Given the description of an element on the screen output the (x, y) to click on. 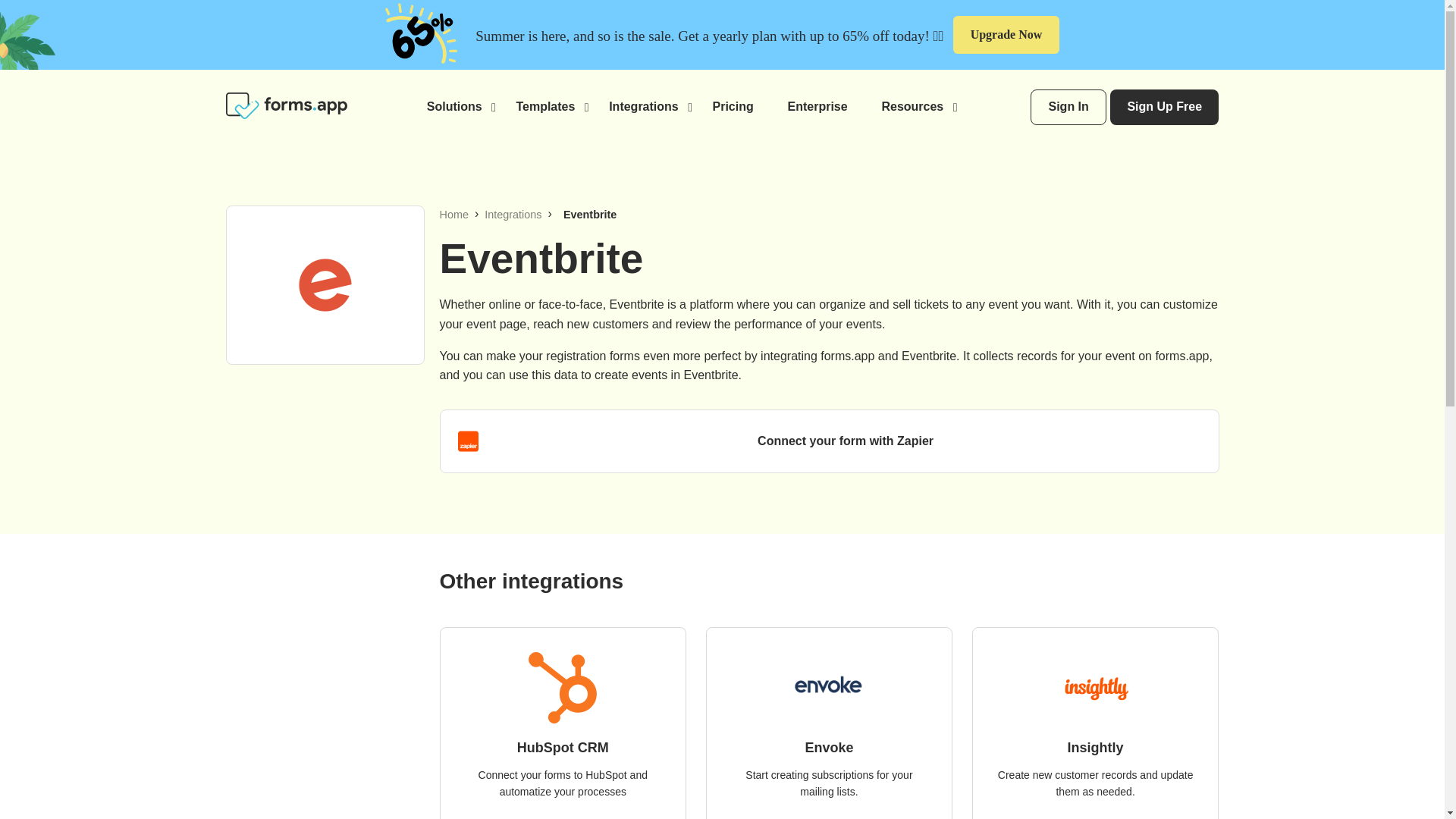
Enterprise (817, 106)
Upgrade Now (1005, 34)
Sign In (1068, 107)
Pricing (733, 106)
Sign Up Free (1163, 107)
